Given the description of an element on the screen output the (x, y) to click on. 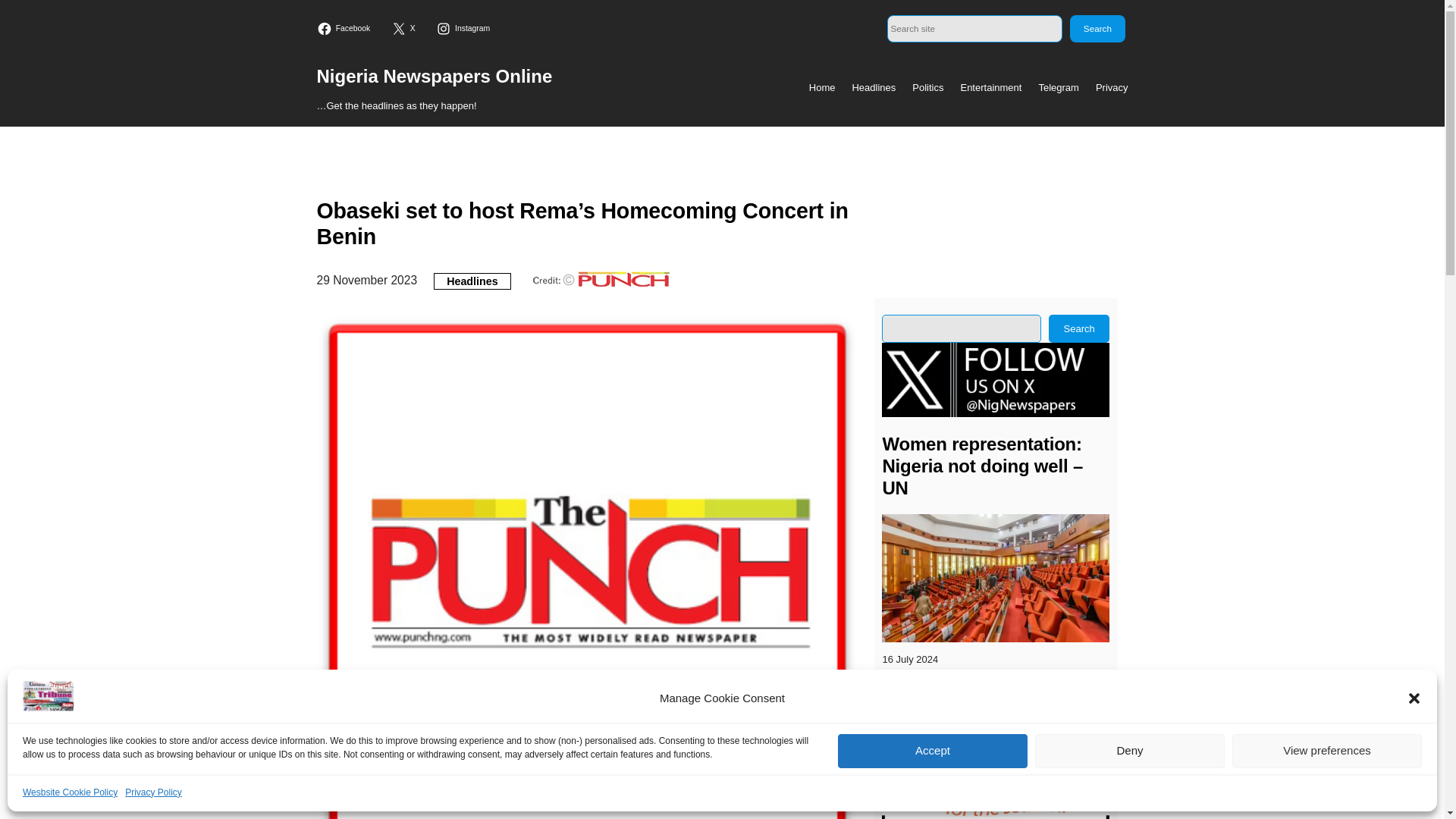
X (405, 28)
Facebook (345, 28)
Wesbsite Cookie Policy (70, 792)
Entertainment (990, 88)
Deny (1129, 750)
Nigeria Newspapers Online (435, 76)
Telegram (1058, 88)
Search (1097, 28)
Privacy Policy (153, 792)
Headlines (873, 88)
Privacy (1112, 88)
View preferences (1326, 750)
Home (822, 88)
